Given the description of an element on the screen output the (x, y) to click on. 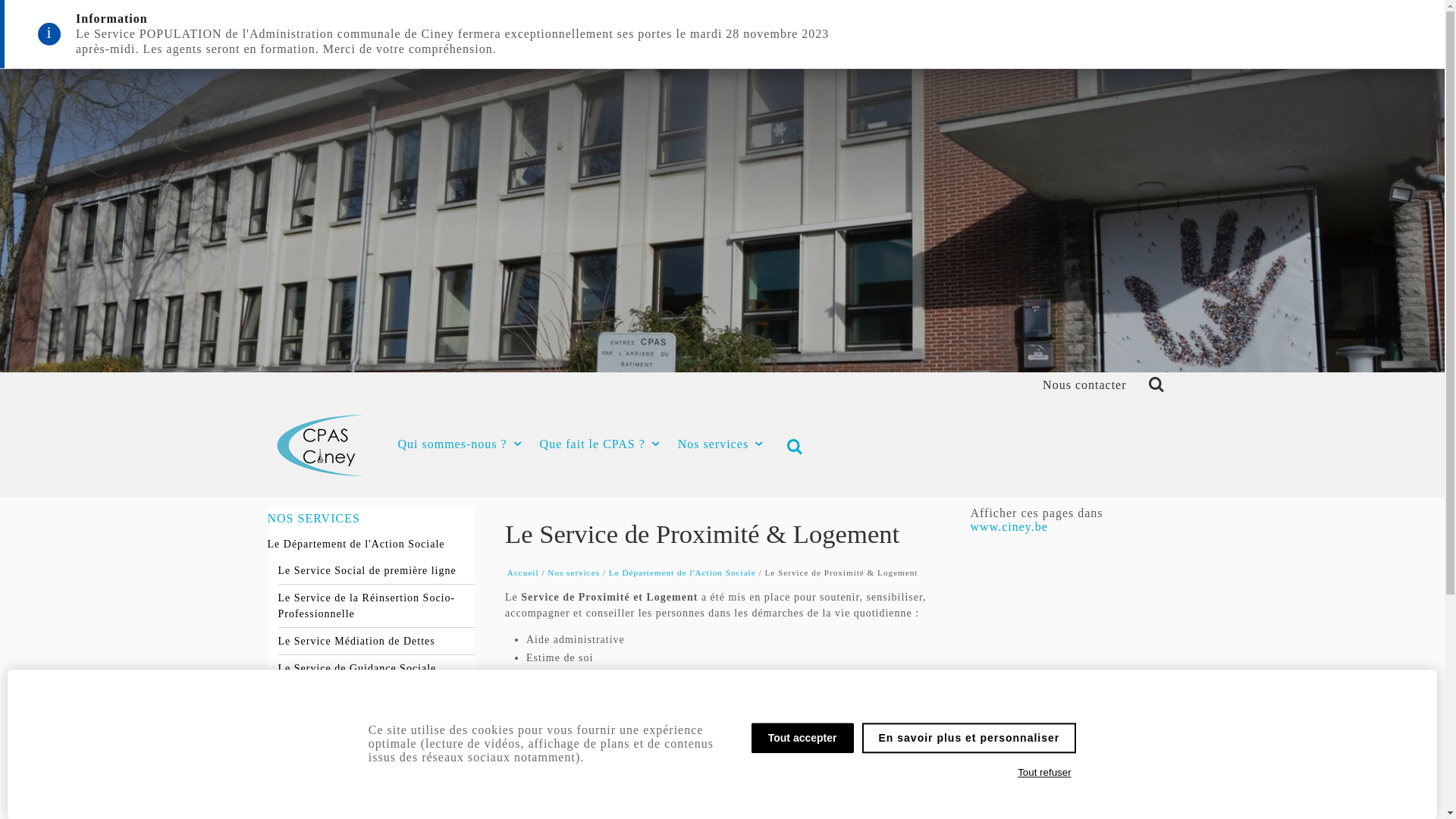
NOS SERVICES Element type: text (363, 518)
Nous contacter Element type: text (1084, 384)
Nos services Element type: text (573, 572)
Tout refuser Element type: text (1044, 772)
www.ciney.be Element type: text (1009, 526)
Qui sommes-nous ? Element type: text (459, 444)
Chercher Element type: text (791, 447)
Nos services Element type: text (719, 444)
Accueil Element type: text (523, 572)
La Maison citoyenne de Ciney Element type: text (596, 783)
Le Foyer cinacien Element type: text (565, 806)
Chercher Element type: text (1151, 384)
La Petite Enfance Element type: text (369, 766)
Tout accepter Element type: text (802, 737)
En savoir plus et personnaliser Element type: text (968, 737)
Que fait le CPAS ? Element type: text (599, 444)
